Given the description of an element on the screen output the (x, y) to click on. 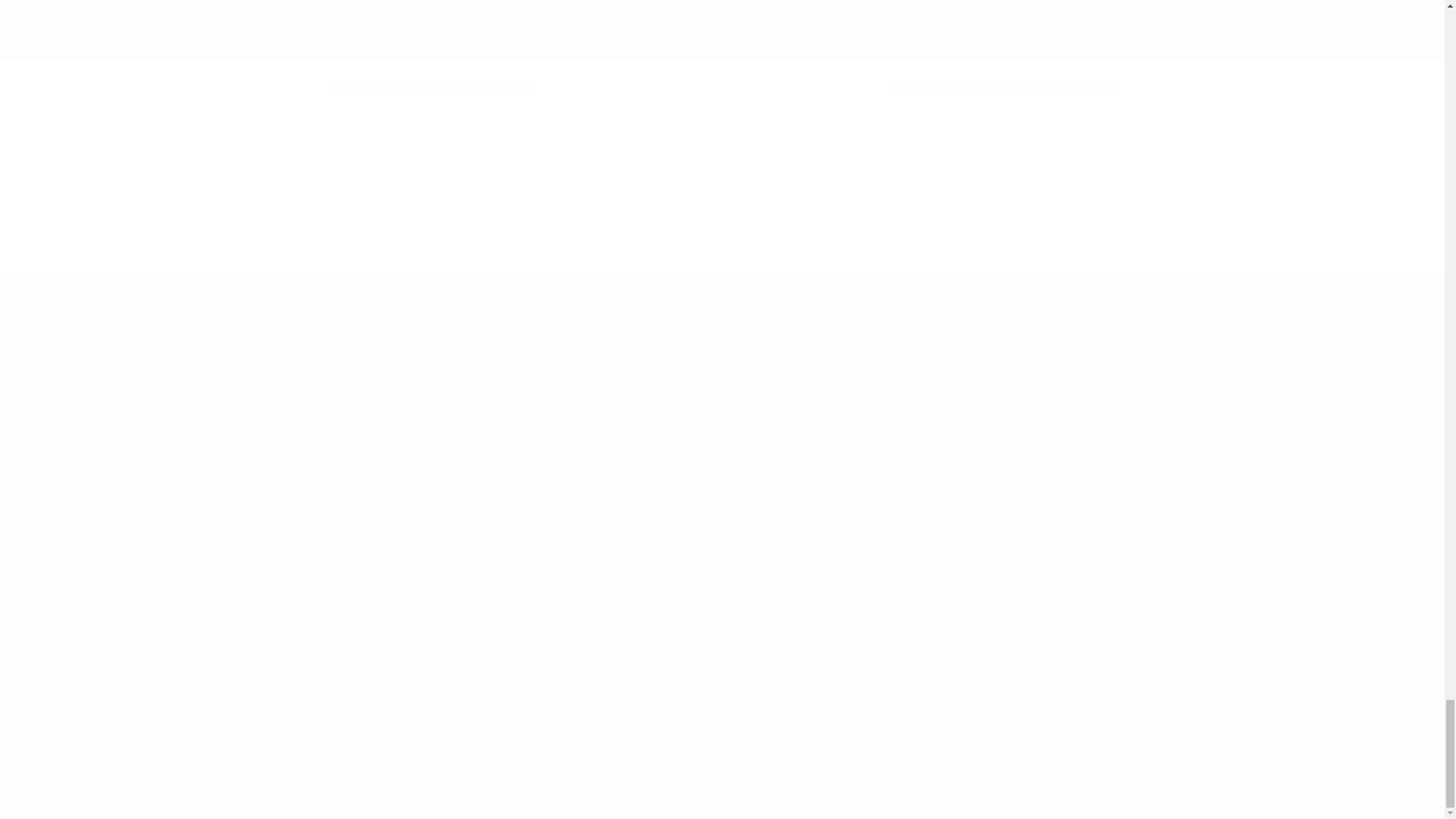
UEFA.com (769, 338)
English (1030, 338)
About (598, 348)
Video (370, 348)
Terms and conditions (645, 527)
Deutsch (1032, 369)
Video (370, 348)
UEFA Europa League (227, 341)
Cookie policy (777, 527)
Matches (376, 317)
Draws (371, 333)
Teams (371, 364)
Italiano (1029, 416)
UEFA Foundation (786, 354)
English (1030, 338)
